Given the description of an element on the screen output the (x, y) to click on. 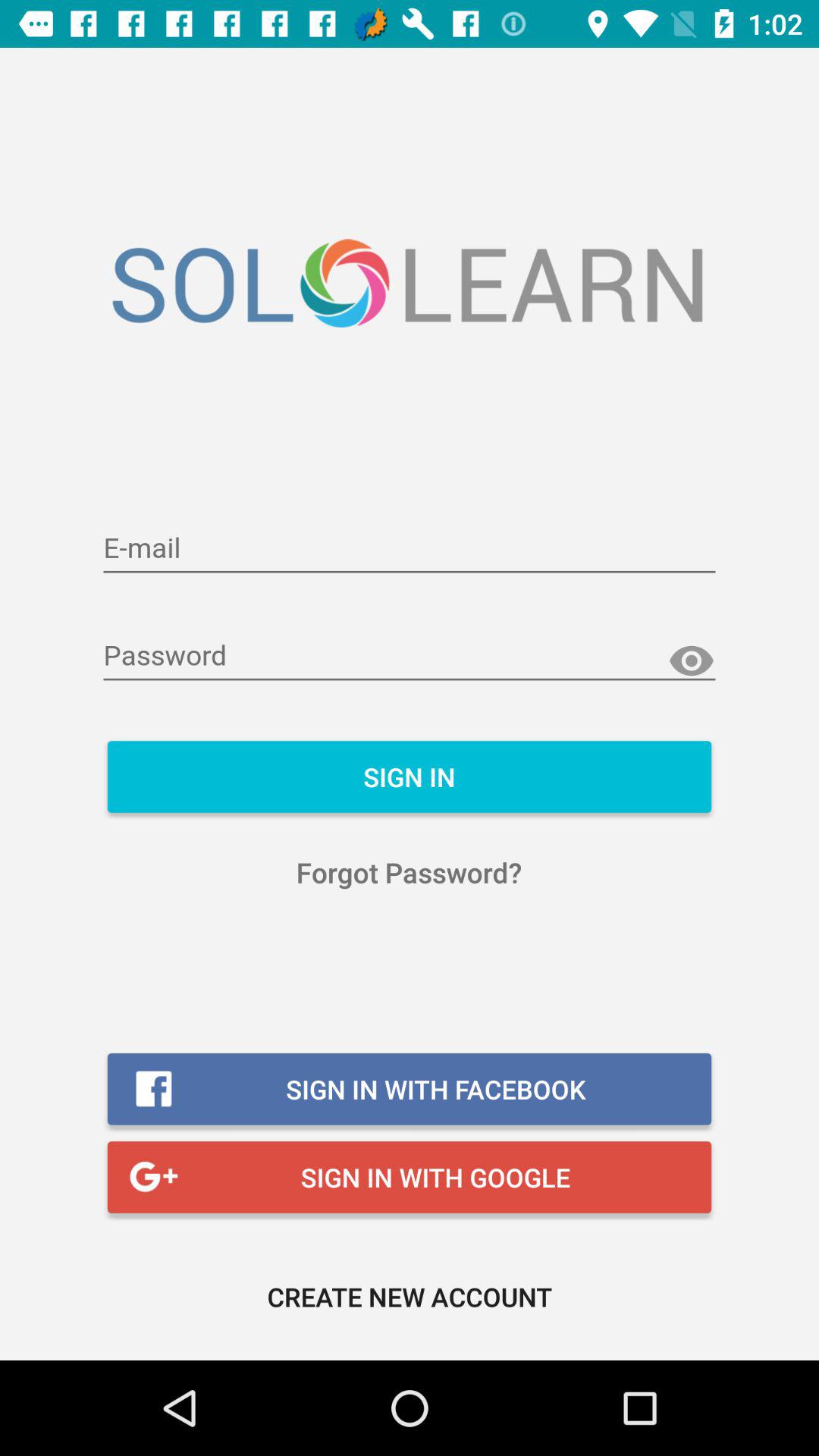
enter email (409, 548)
